Given the description of an element on the screen output the (x, y) to click on. 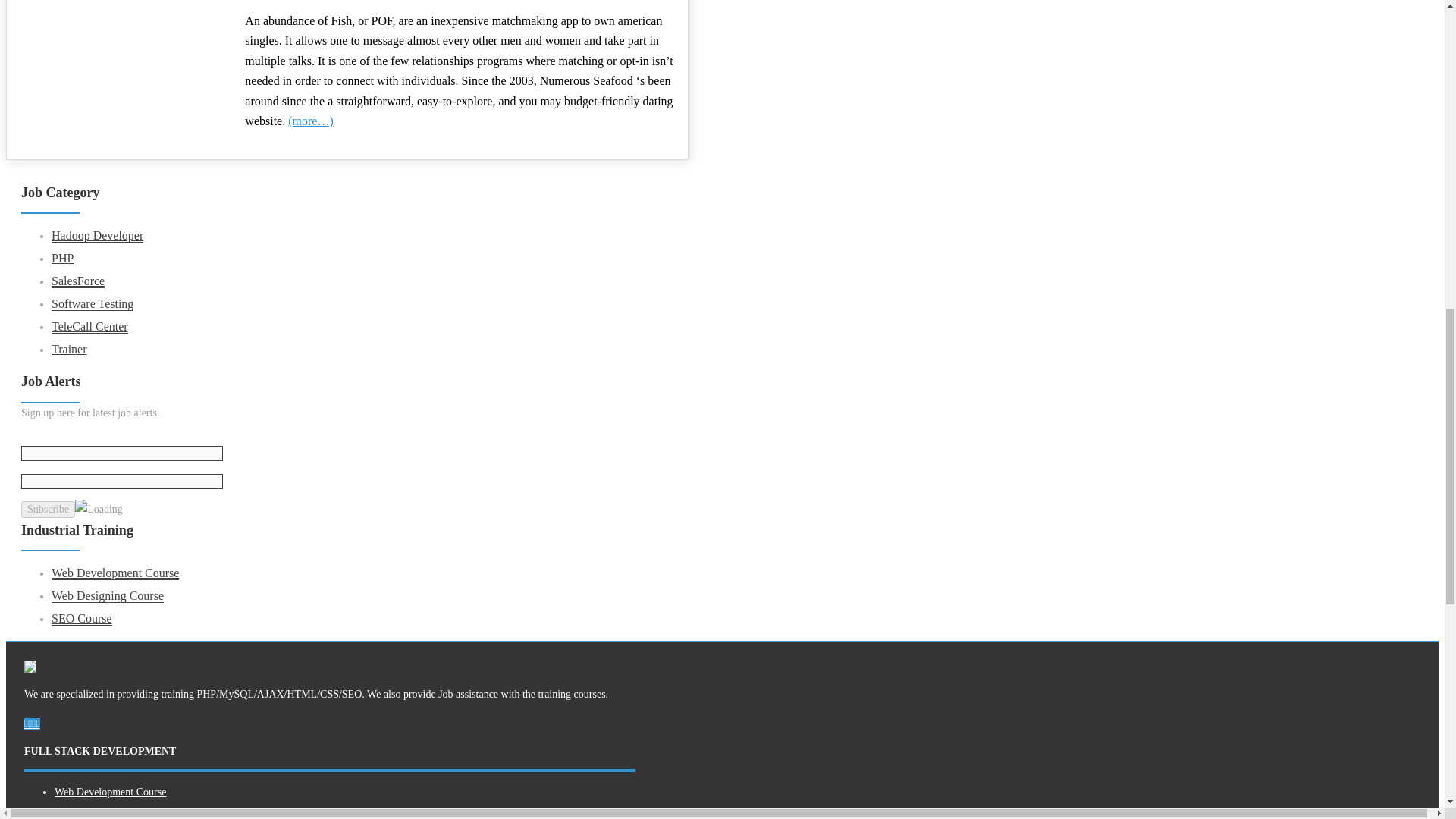
 instagram (29, 723)
Software Testing (91, 304)
Web Development Course (114, 572)
Subscribe (48, 509)
Trainer (68, 349)
 pinterest (33, 723)
Web Designing Course (103, 811)
TeleCall Center (89, 326)
Hadoop Developer (96, 235)
Web Development Course (110, 791)
Subscribe (48, 509)
PHP (62, 258)
SEO Course (81, 618)
 facebook (25, 723)
Web Designing Course (106, 595)
